Given the description of an element on the screen output the (x, y) to click on. 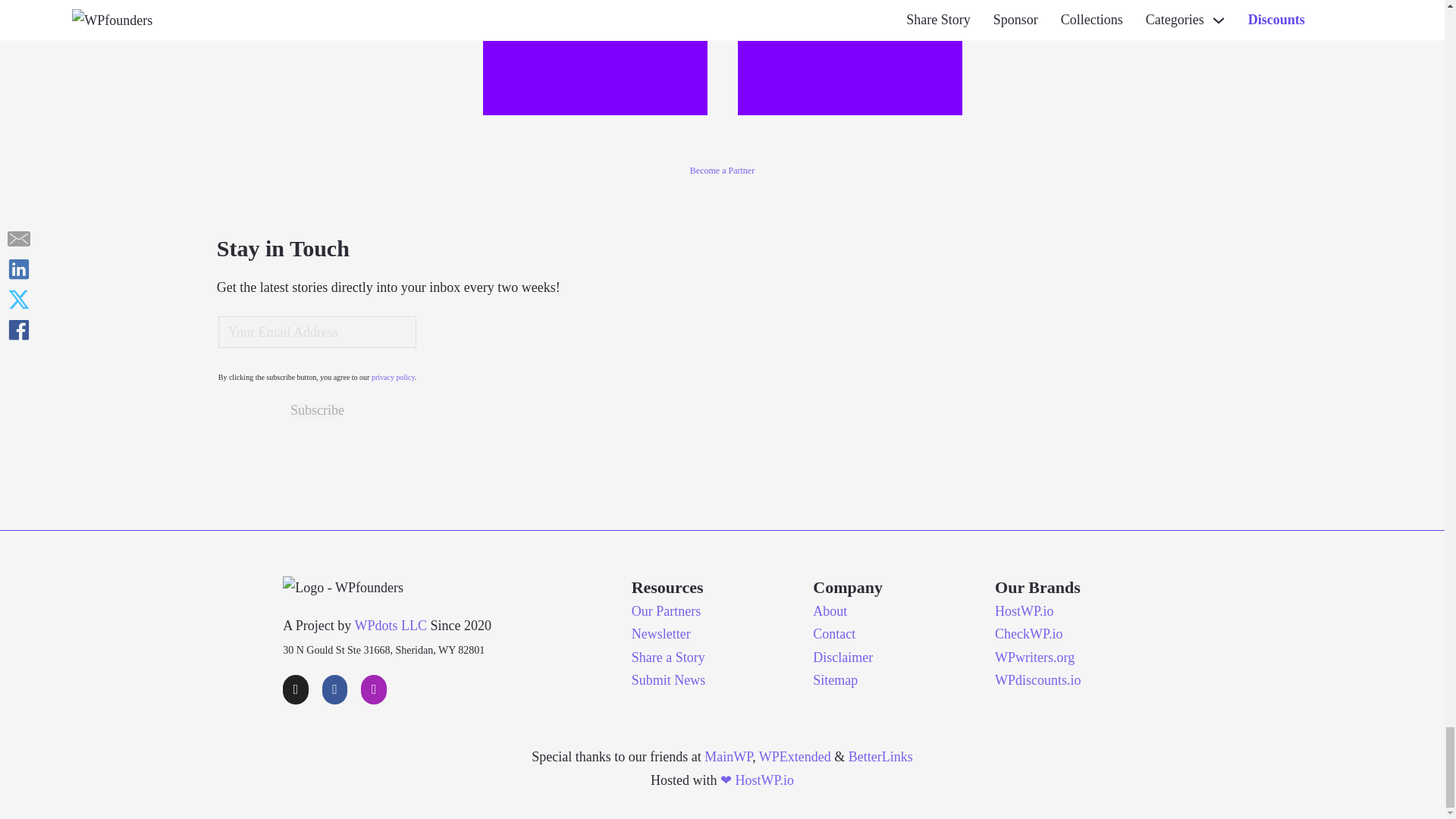
WPExtended (794, 756)
BetterLinks (880, 756)
MainWP (728, 756)
